Given the description of an element on the screen output the (x, y) to click on. 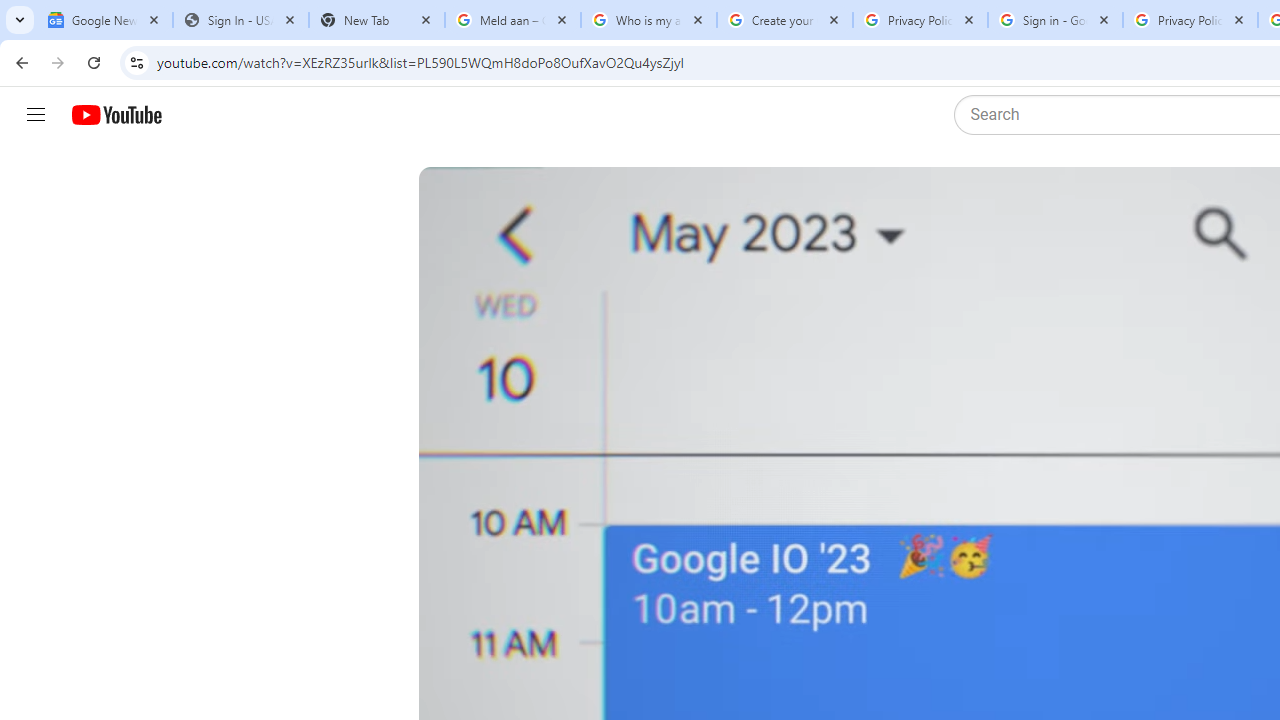
Sign In - USA TODAY (240, 20)
Who is my administrator? - Google Account Help (648, 20)
Google News (104, 20)
